Given the description of an element on the screen output the (x, y) to click on. 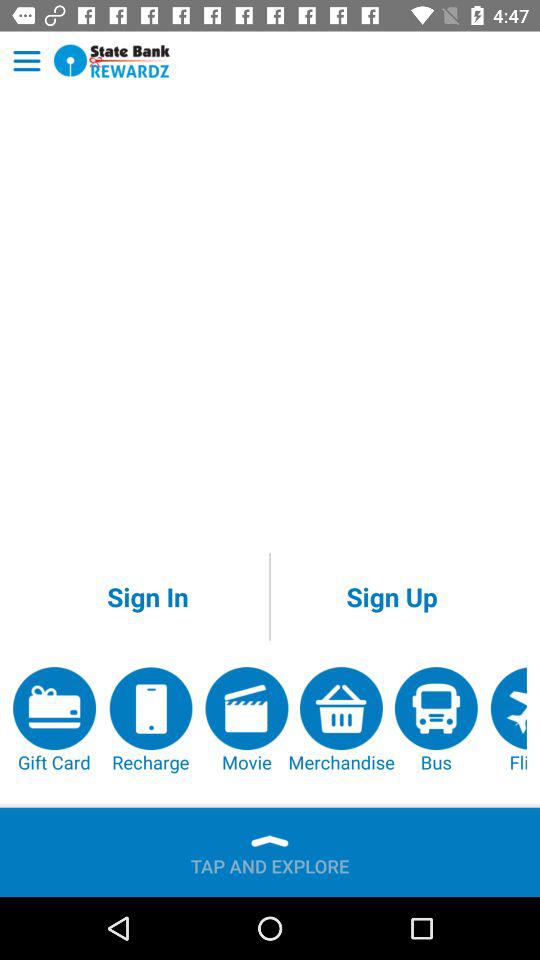
tap item on the right (391, 596)
